Given the description of an element on the screen output the (x, y) to click on. 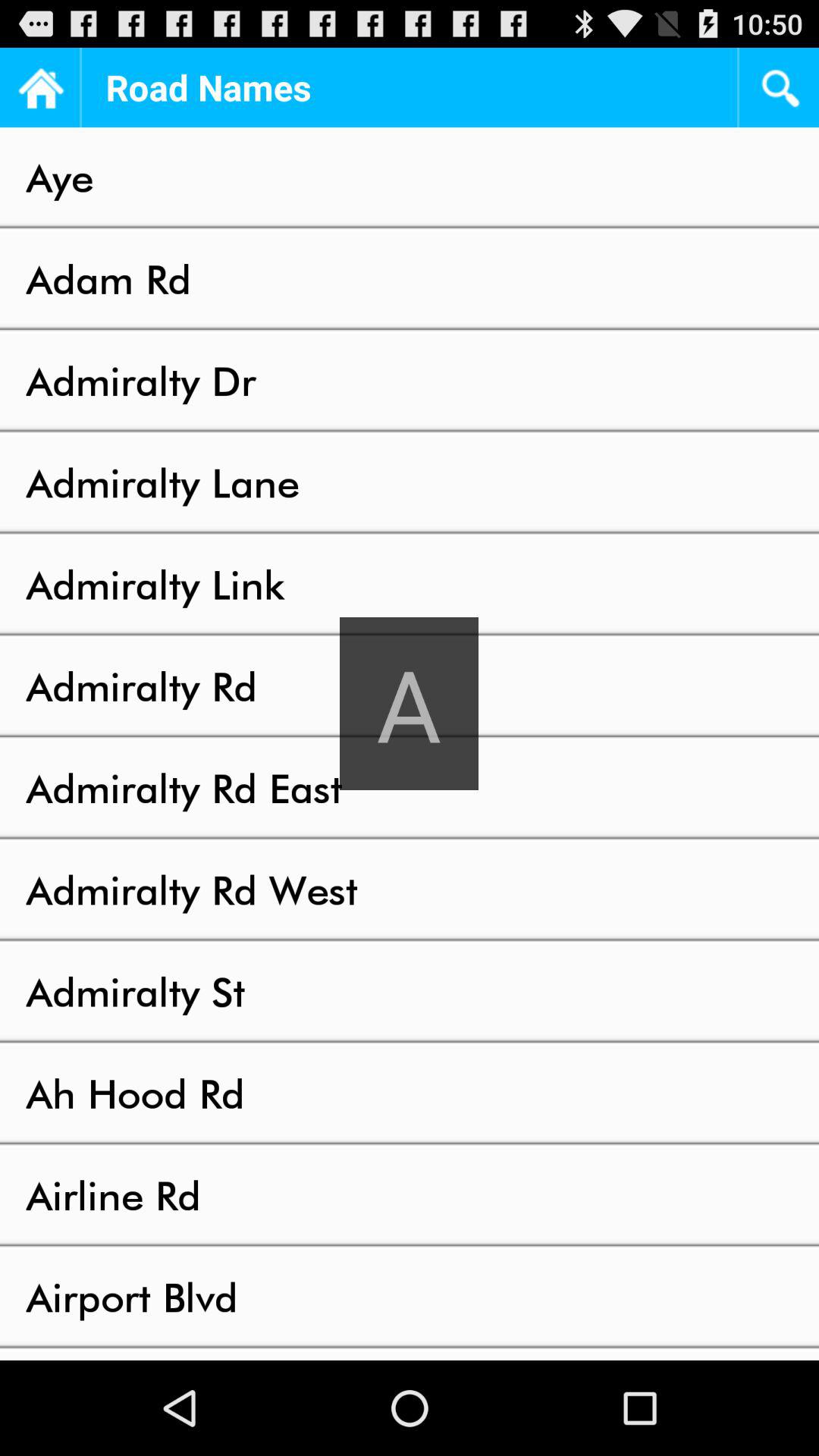
go to home (39, 87)
